Given the description of an element on the screen output the (x, y) to click on. 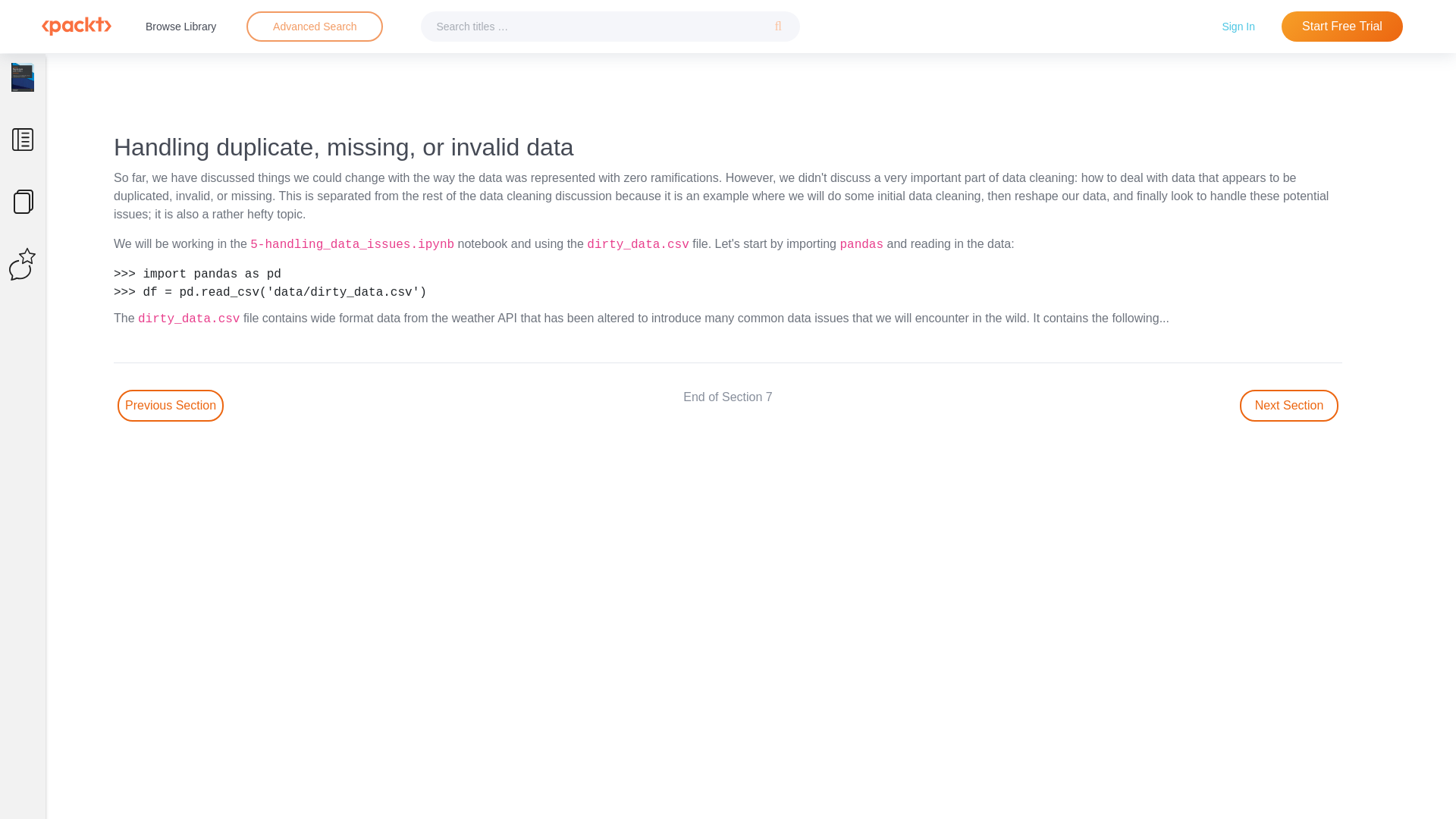
Sign In (1238, 26)
Advanced Search (314, 26)
Advanced Search (315, 26)
Browse Library (180, 26)
Start Free Trial (1342, 26)
Advanced search (314, 26)
Go to next section (1289, 405)
Go to Previous section (170, 405)
